Given the description of an element on the screen output the (x, y) to click on. 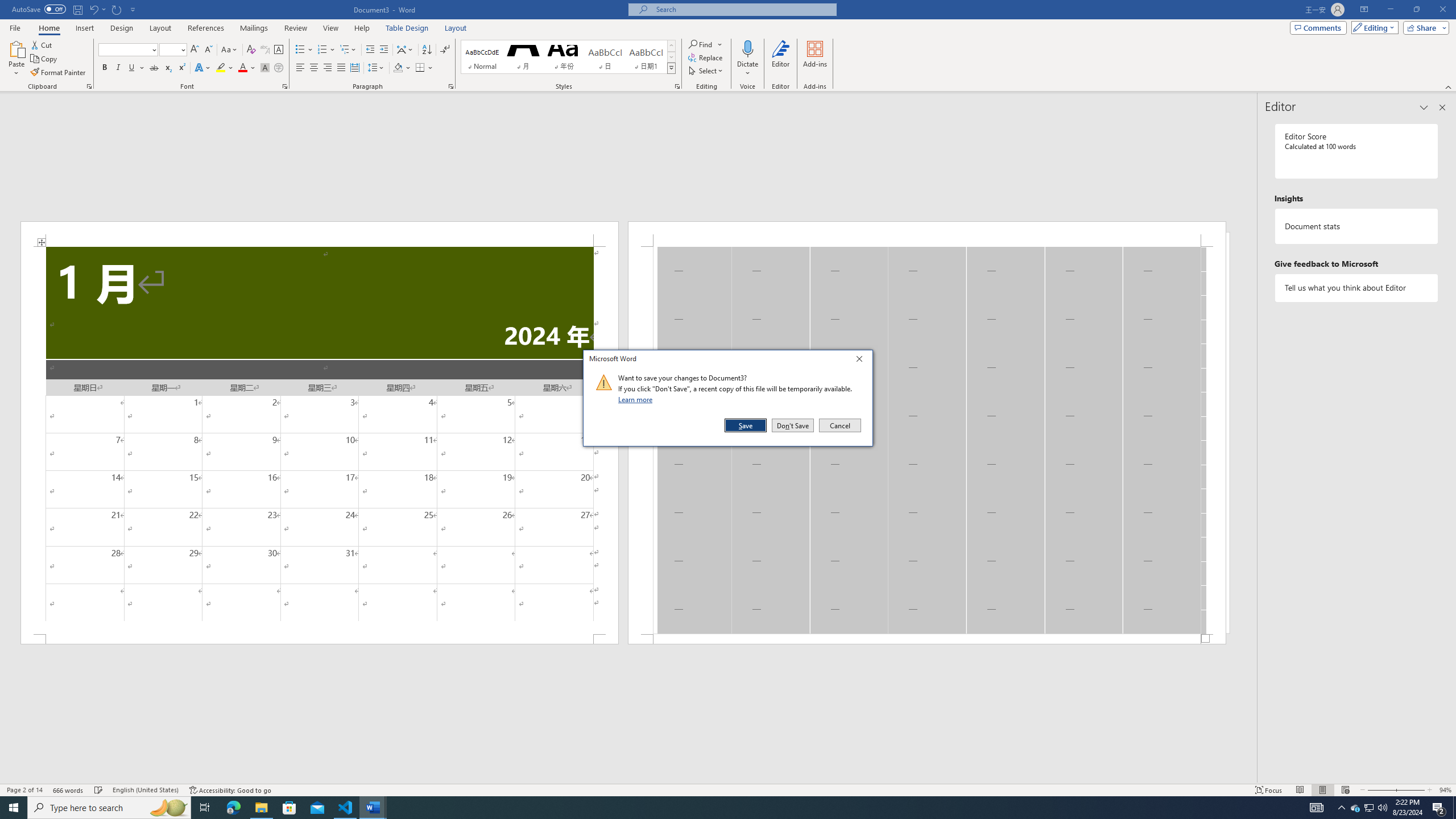
Minimize (1390, 9)
Distributed (354, 67)
Comments (1318, 27)
Language English (United States) (145, 790)
File Explorer - 1 running window (261, 807)
Print Layout (1322, 790)
Repeat Doc Close (117, 9)
Zoom Out (1380, 790)
Select (705, 69)
Align Left (300, 67)
Task View (1368, 807)
Page Number Page 2 of 14 (204, 807)
Spelling and Grammar Check Checking (24, 790)
